Given the description of an element on the screen output the (x, y) to click on. 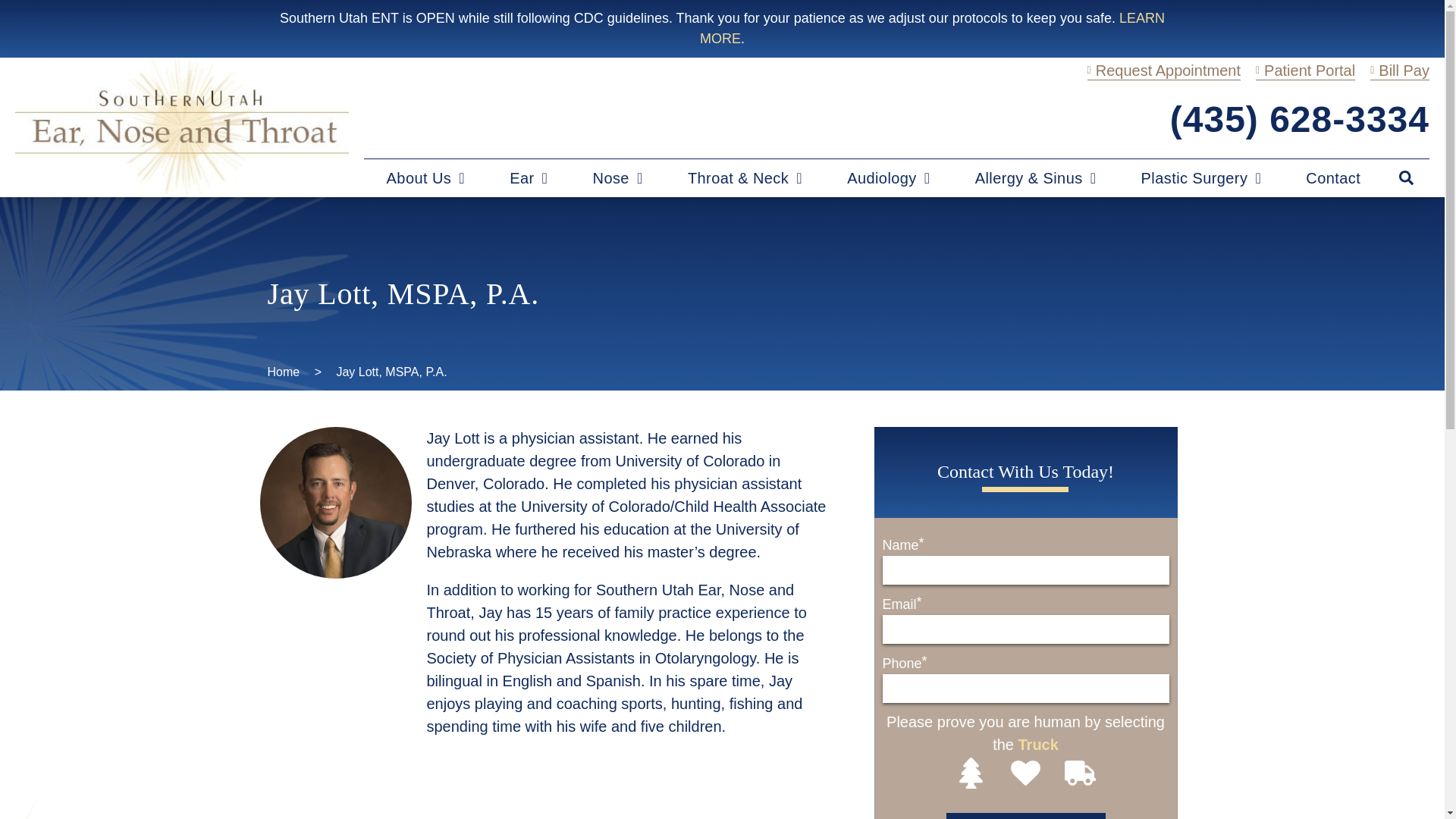
Bill Pay (1399, 70)
LEARN MORE (932, 27)
Patient Portal (1305, 70)
Ear (528, 177)
About Us (425, 177)
Request Appointment (1163, 70)
